Given the description of an element on the screen output the (x, y) to click on. 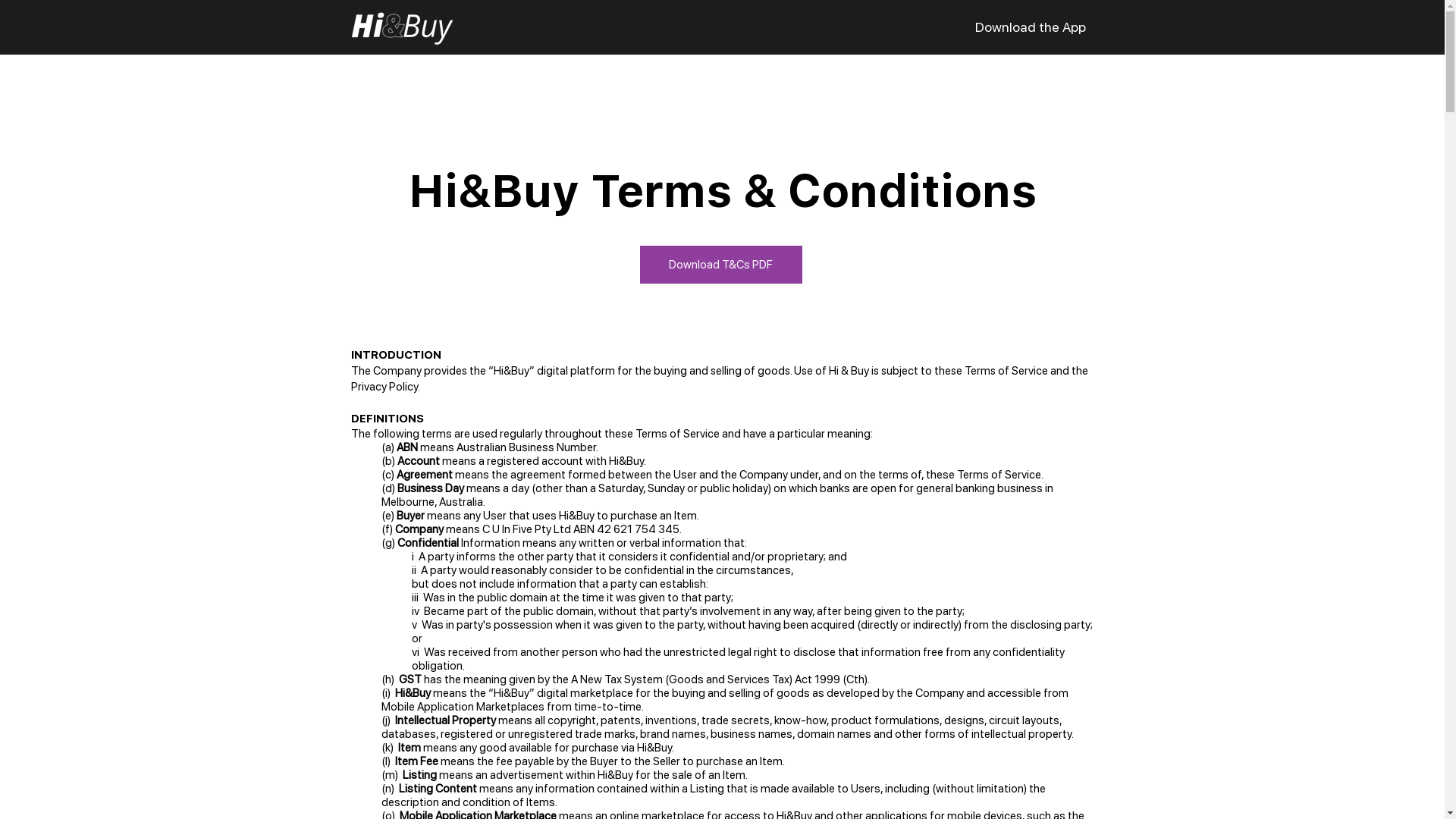
Download the App Element type: text (1030, 27)
Download T&Cs PDF Element type: text (721, 264)
